Given the description of an element on the screen output the (x, y) to click on. 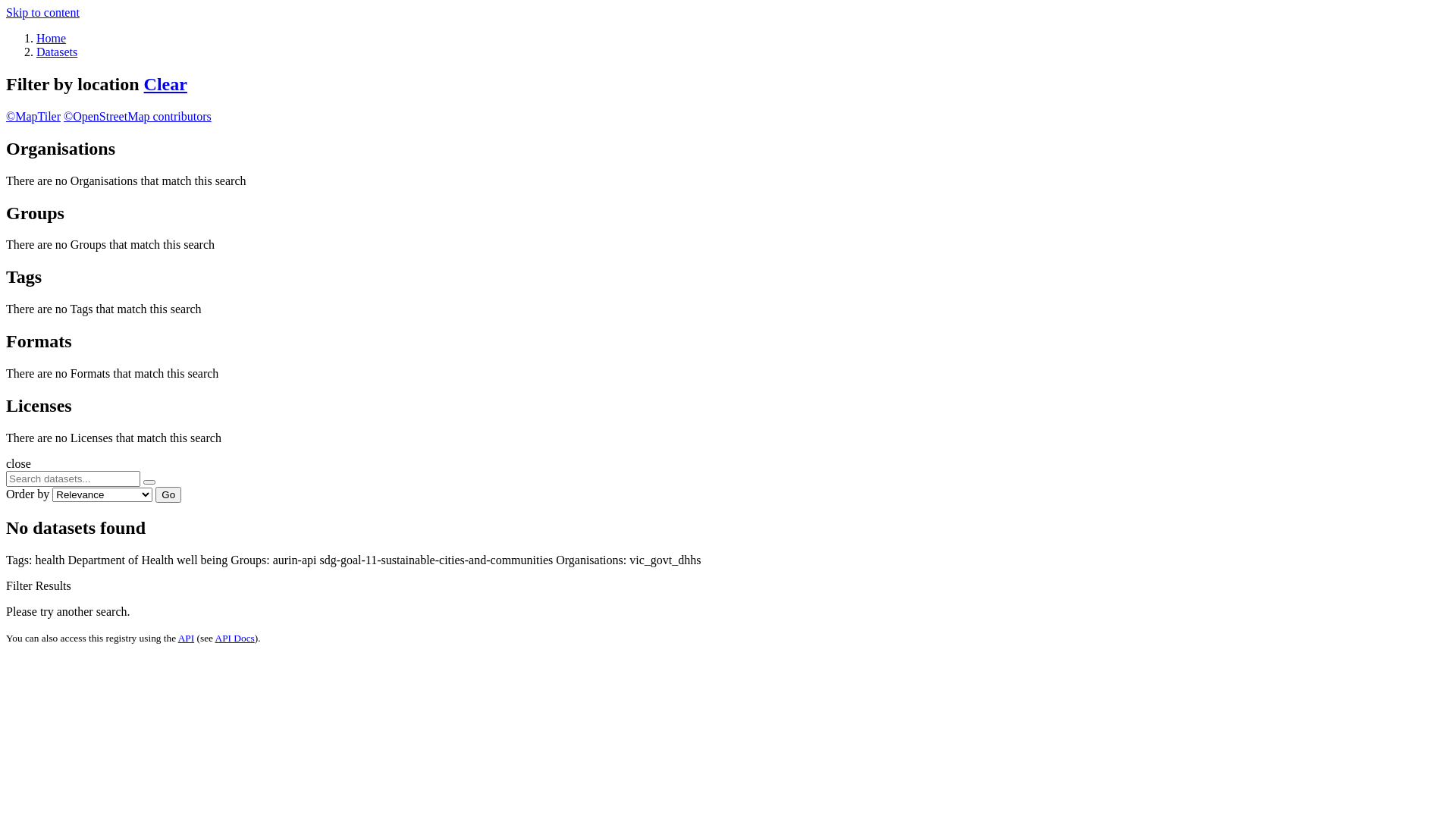
API Element type: text (186, 637)
close Element type: text (18, 463)
Datasets Element type: text (56, 51)
API Docs Element type: text (234, 637)
Go Element type: text (168, 494)
Home Element type: text (50, 37)
search Element type: text (149, 482)
Filter Results Element type: text (38, 585)
Clear Element type: text (165, 84)
Skip to content Element type: text (42, 12)
